Given the description of an element on the screen output the (x, y) to click on. 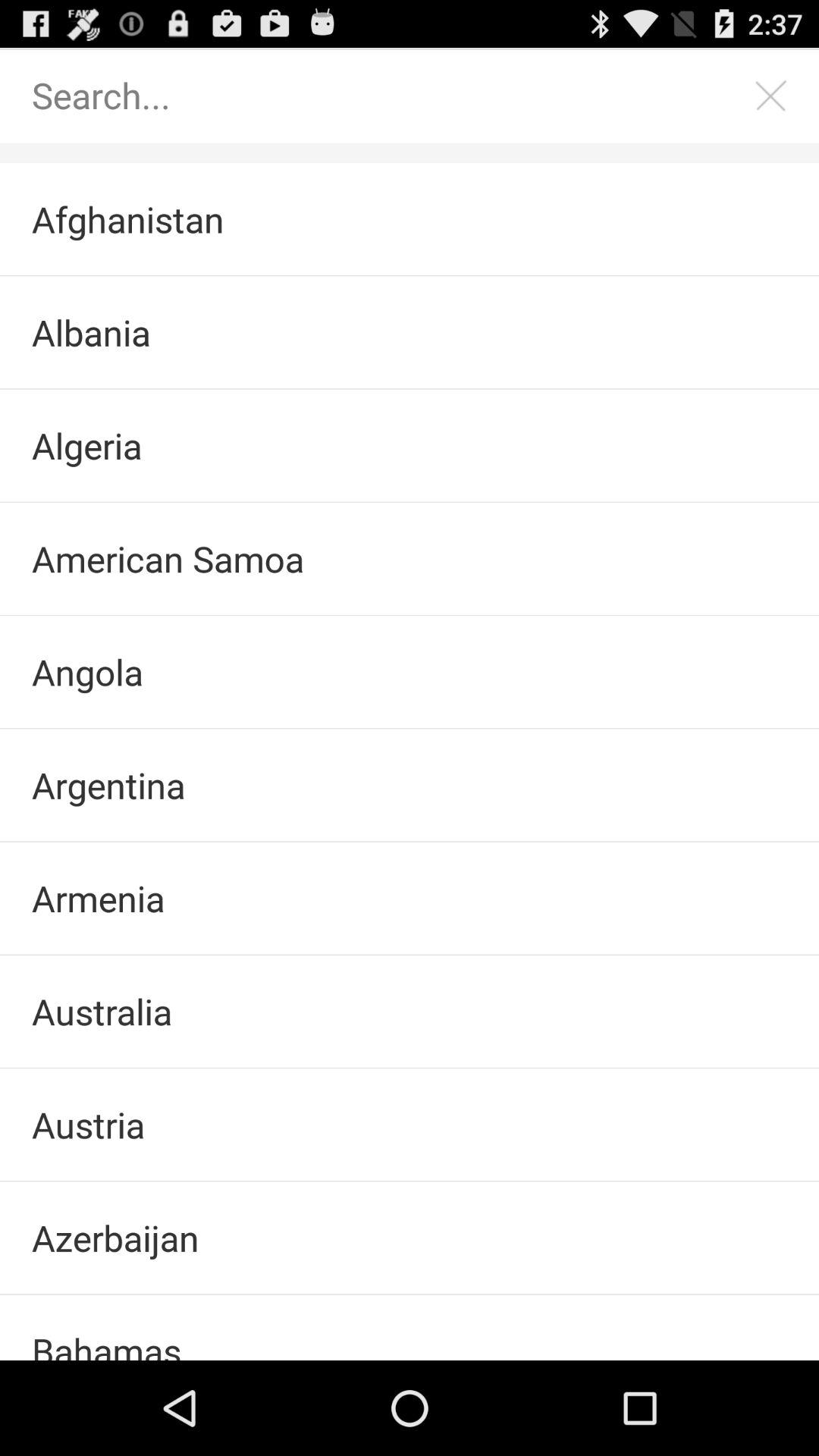
press the icon above algeria checkbox (409, 332)
